Given the description of an element on the screen output the (x, y) to click on. 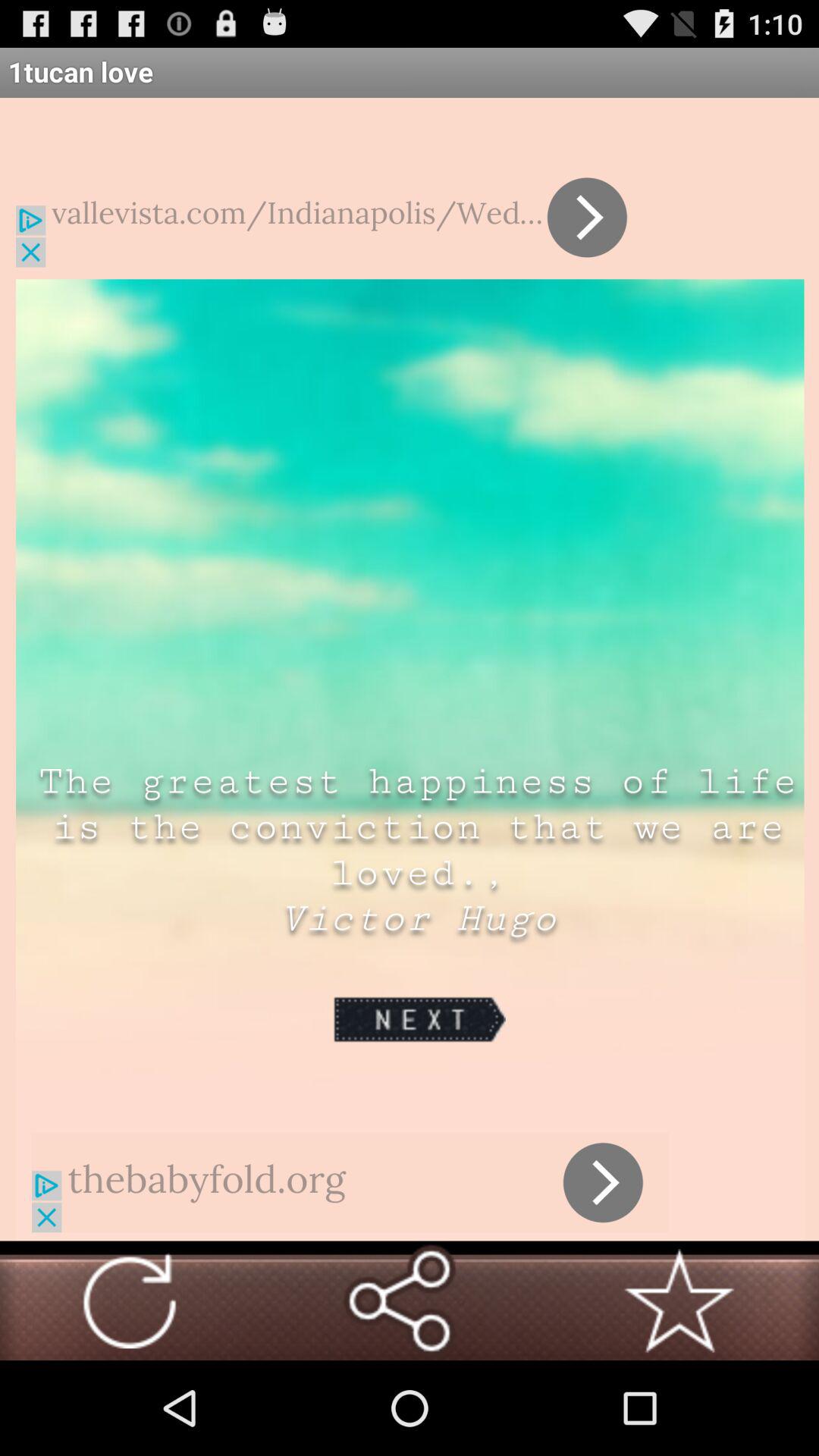
share (399, 1300)
